Given the description of an element on the screen output the (x, y) to click on. 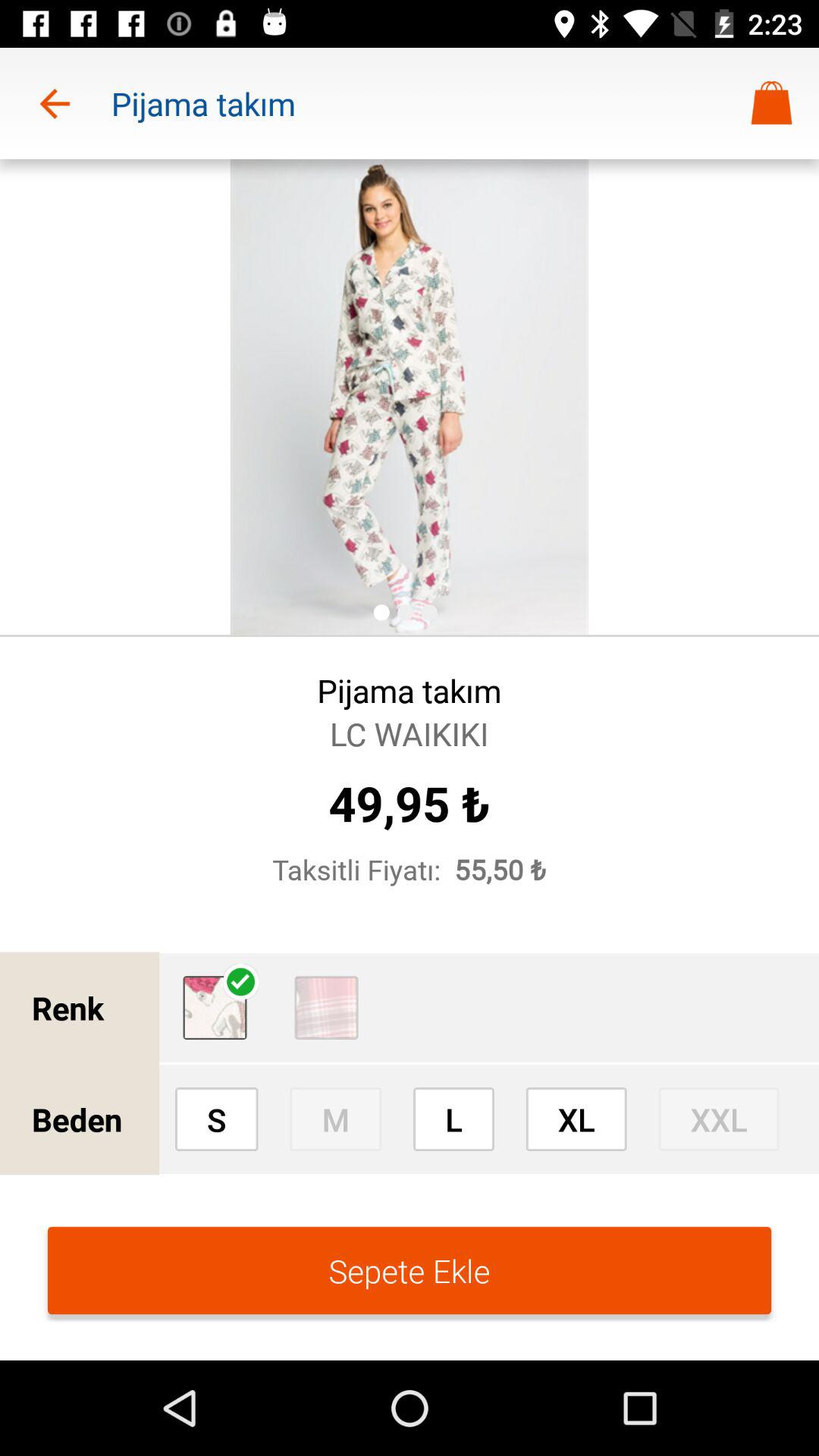
click the icon to the right of s (335, 1119)
